Given the description of an element on the screen output the (x, y) to click on. 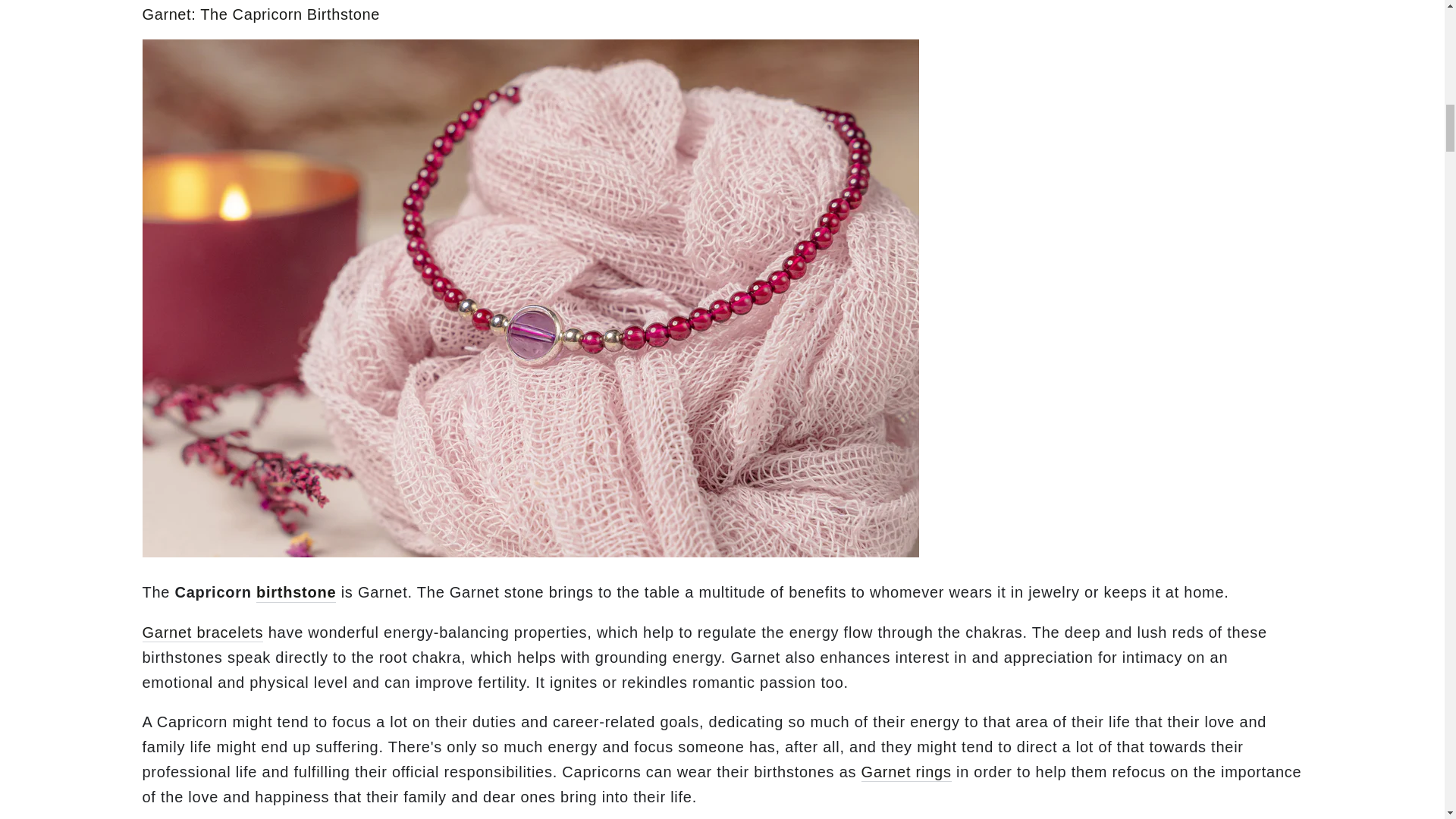
garnet rings (906, 772)
birthstone  (296, 592)
garnet bracelets (202, 633)
